Given the description of an element on the screen output the (x, y) to click on. 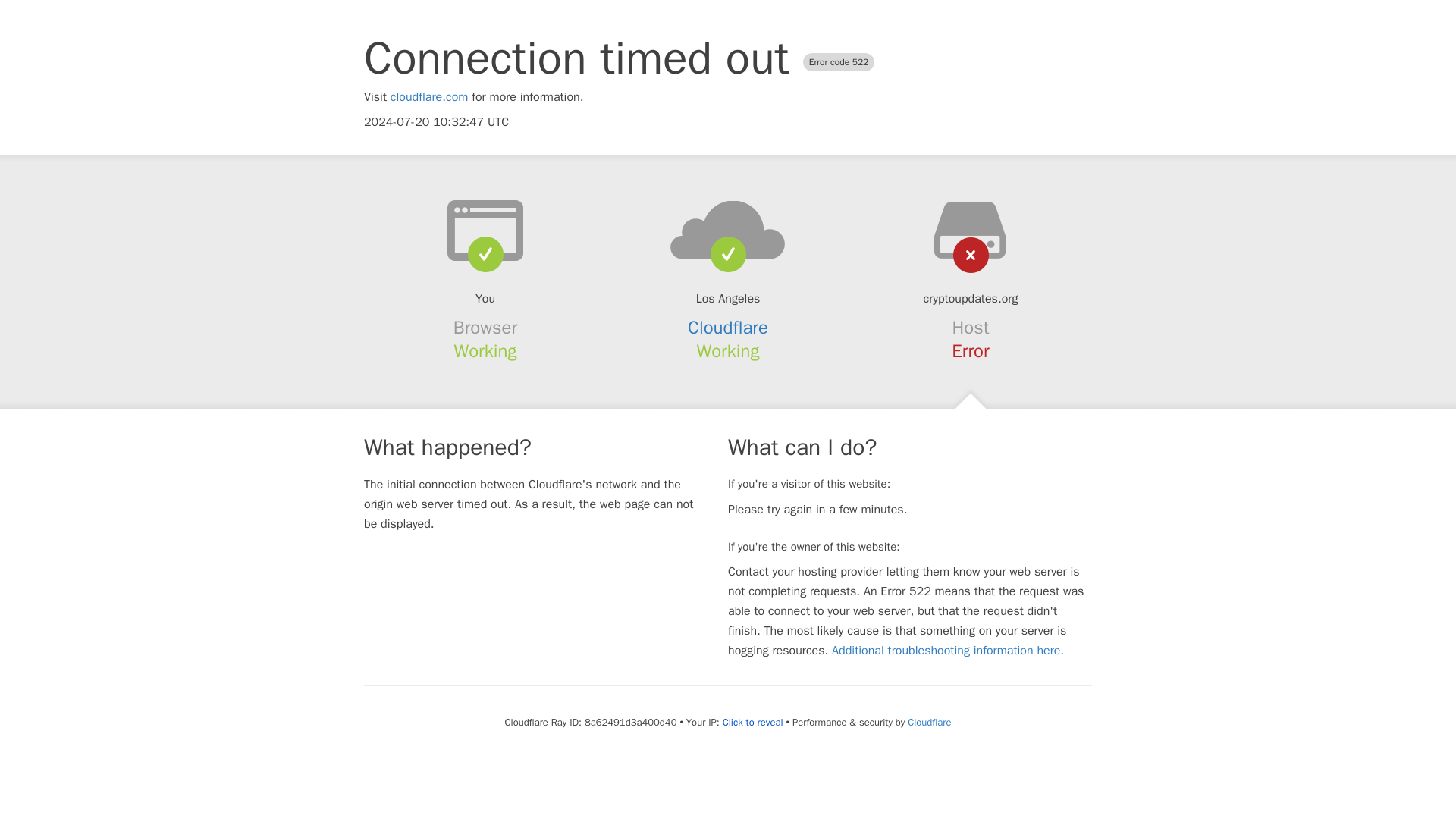
cloudflare.com (429, 96)
Additional troubleshooting information here. (947, 650)
Cloudflare (727, 327)
Click to reveal (752, 722)
Cloudflare (928, 721)
